Given the description of an element on the screen output the (x, y) to click on. 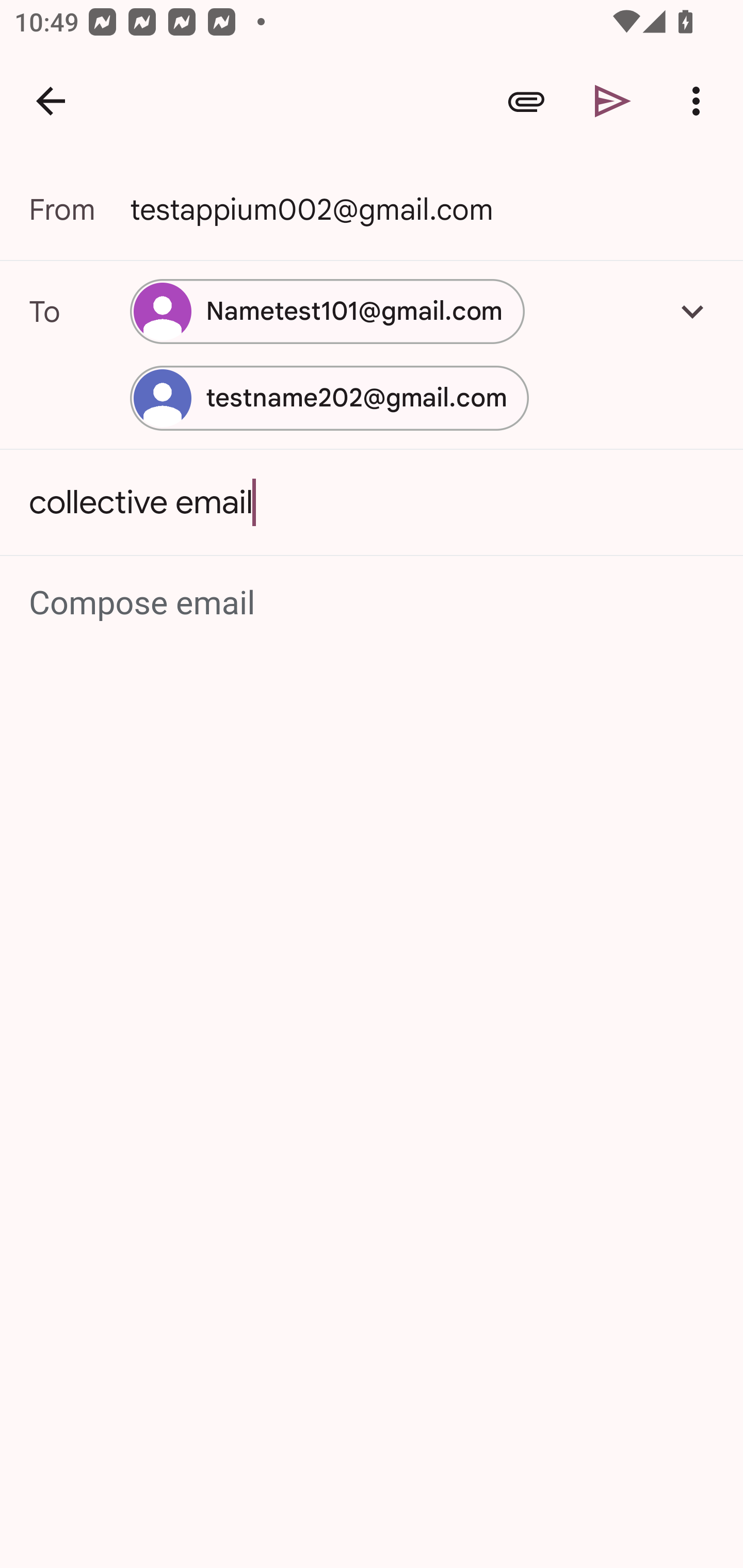
Navigate up (50, 101)
Attach file (525, 101)
Send (612, 101)
More options (699, 101)
From (79, 209)
Add Cc/Bcc (692, 311)
collective email (371, 502)
Compose email (372, 603)
